Given the description of an element on the screen output the (x, y) to click on. 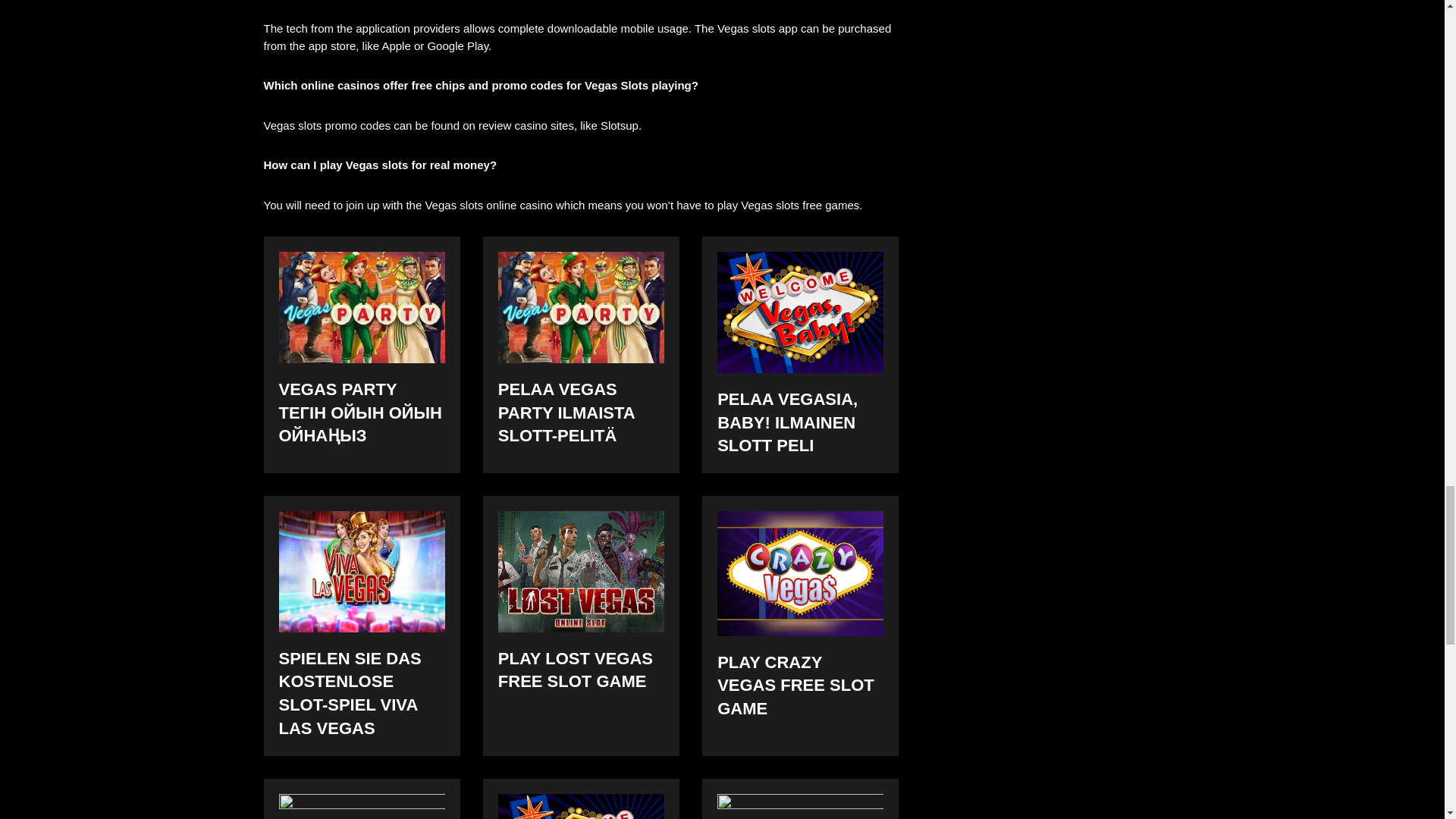
PLAY CRAZY VEGAS FREE SLOT GAME (800, 573)
PLAY LOST VEGAS FREE SLOT GAME (580, 571)
PLAY VEGAS NIGHTS FREE SLOT GAME (362, 806)
PELAA VEGASIA, BABY! ILMAINEN SLOTT PELI (800, 311)
PLAY VEGAS, BABY! FREE SLOT GAME (580, 806)
SPIELEN SIE DAS KOSTENLOSE SLOT-SPIEL VIVA LAS VEGAS (362, 571)
PLAY VEGAS HITS FREE SLOT GAME (800, 806)
